Given the description of an element on the screen output the (x, y) to click on. 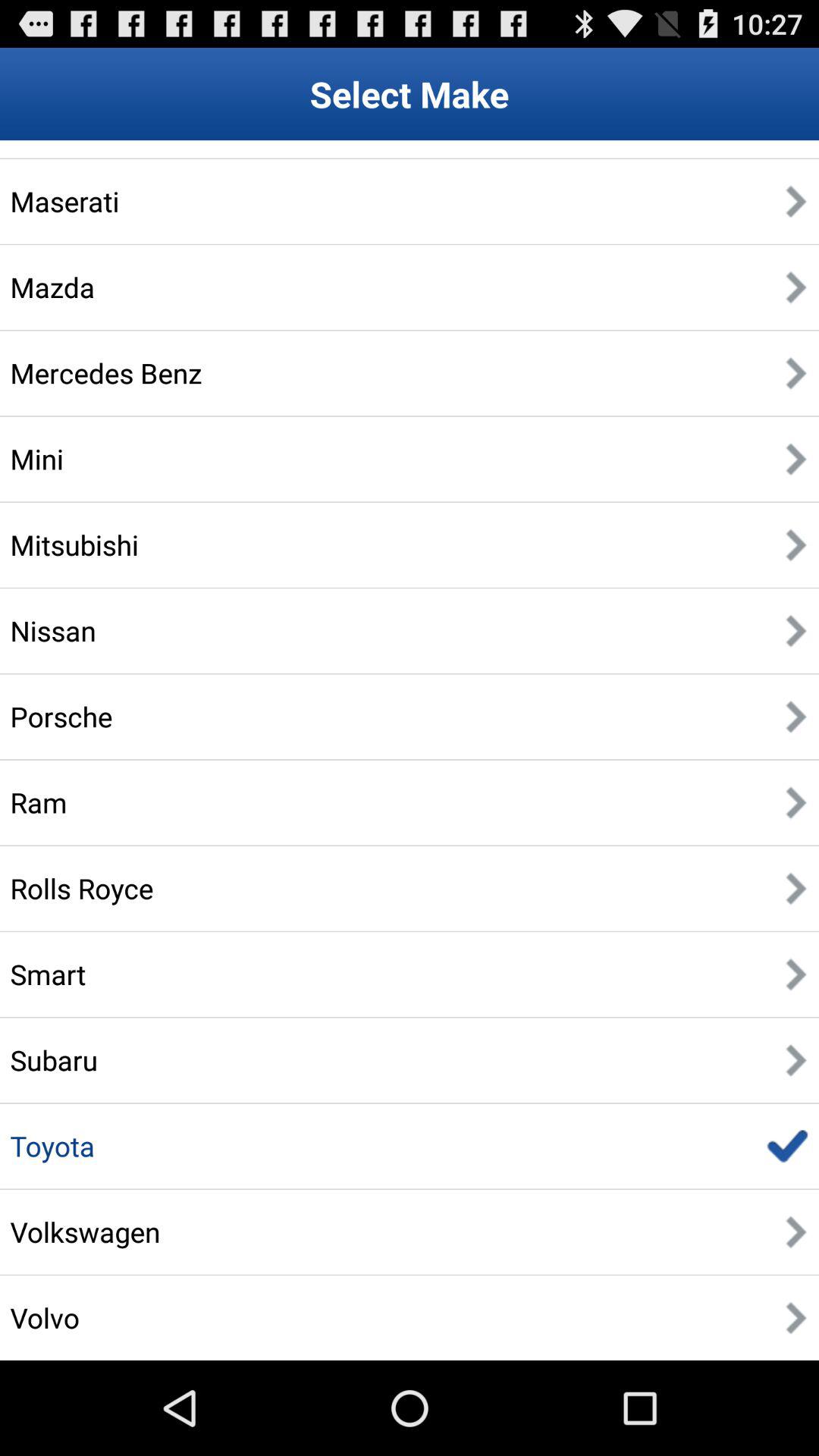
swipe to the nissan icon (53, 630)
